Given the description of an element on the screen output the (x, y) to click on. 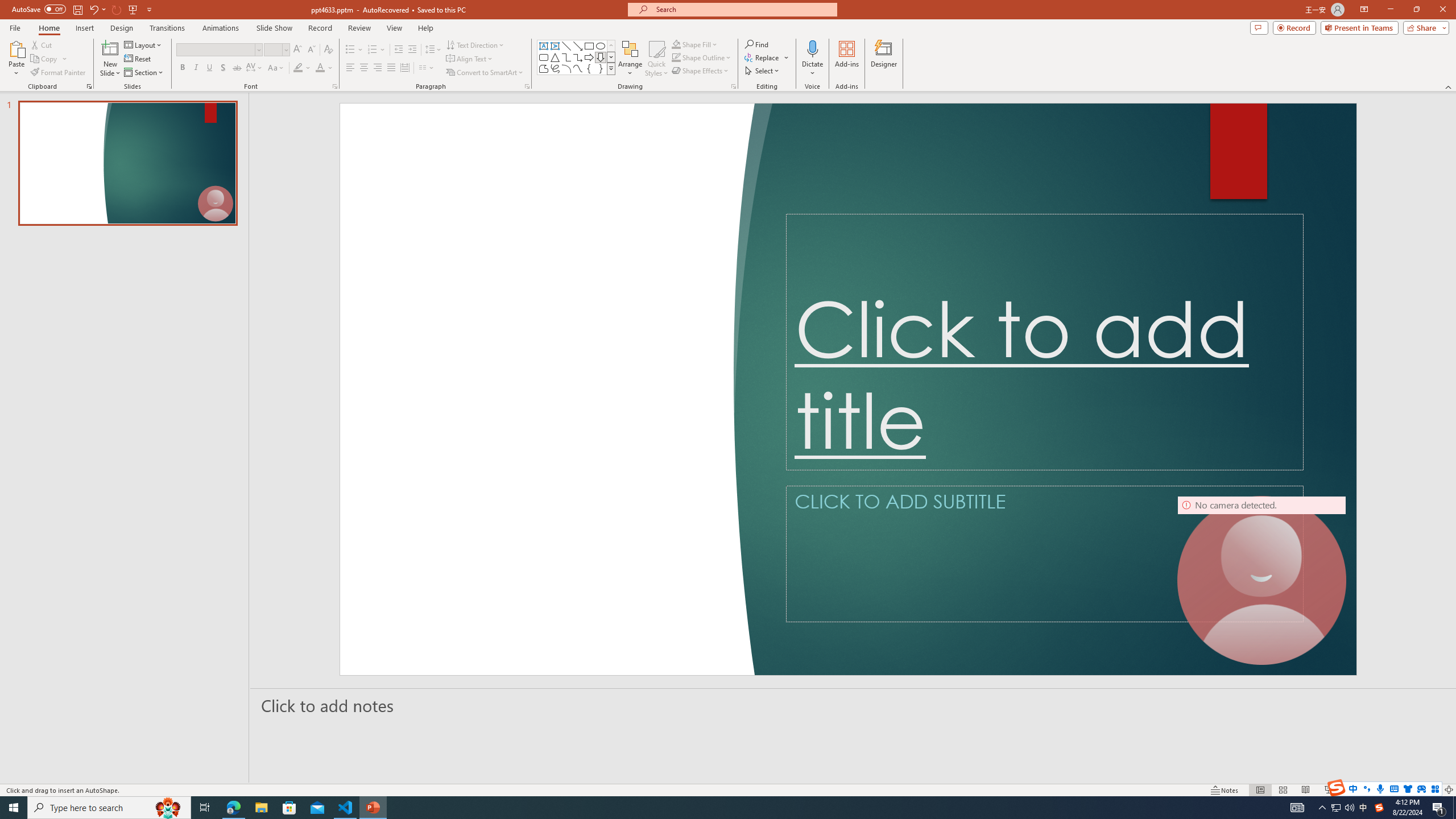
Shape Outline Dark Red, Accent 1 (675, 56)
Shape Effects (700, 69)
